Given the description of an element on the screen output the (x, y) to click on. 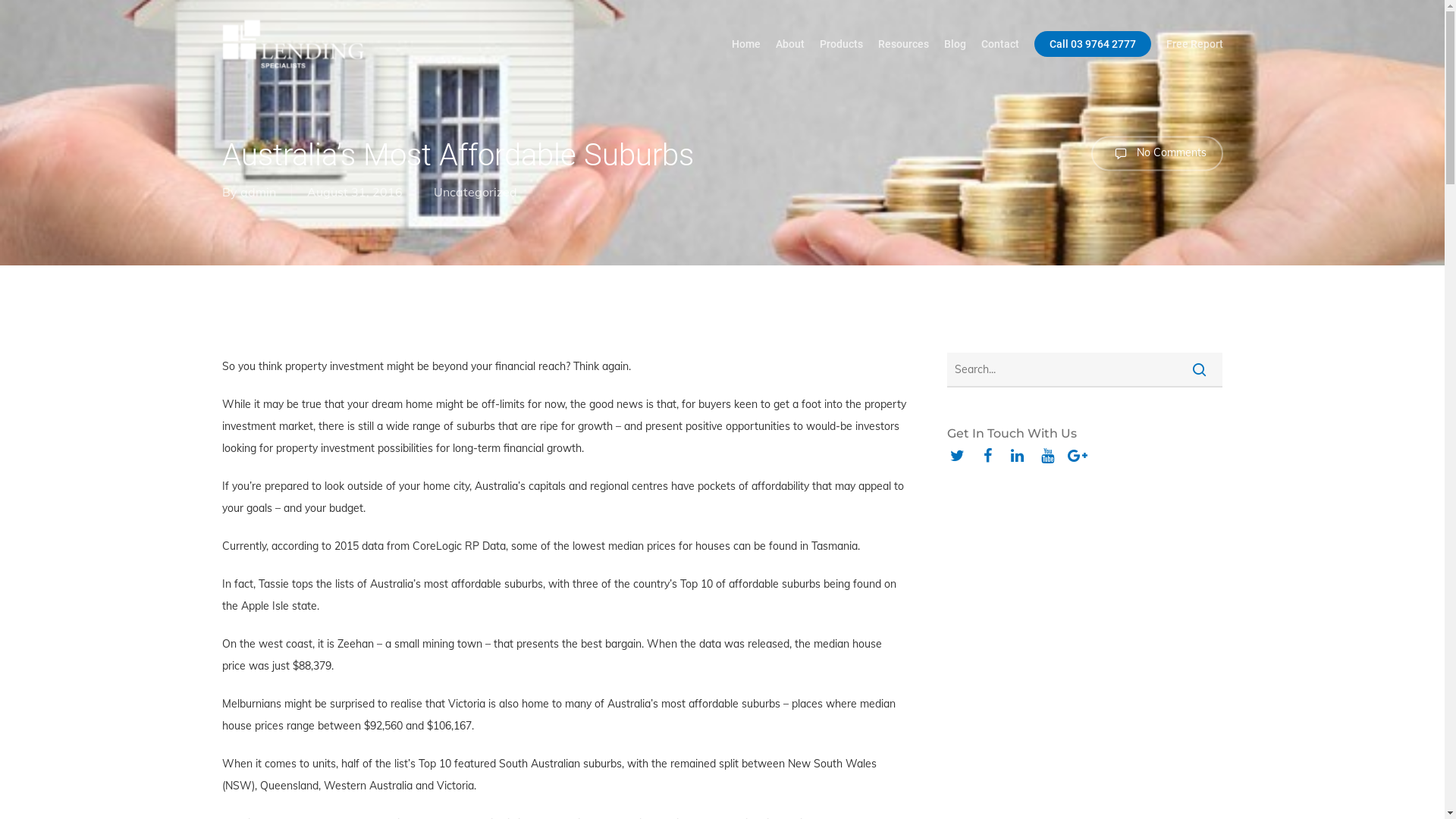
Blog Element type: text (954, 42)
admin Element type: text (257, 190)
About Element type: text (789, 42)
Call 03 9764 2777 Element type: text (1092, 42)
No Comments Element type: text (1156, 152)
Search for: Element type: hover (1084, 369)
Contact Element type: text (1000, 42)
Uncategorized Element type: text (475, 190)
Resources Element type: text (903, 42)
Products Element type: text (840, 42)
Home Element type: text (745, 42)
Free Report Element type: text (1194, 42)
